Given the description of an element on the screen output the (x, y) to click on. 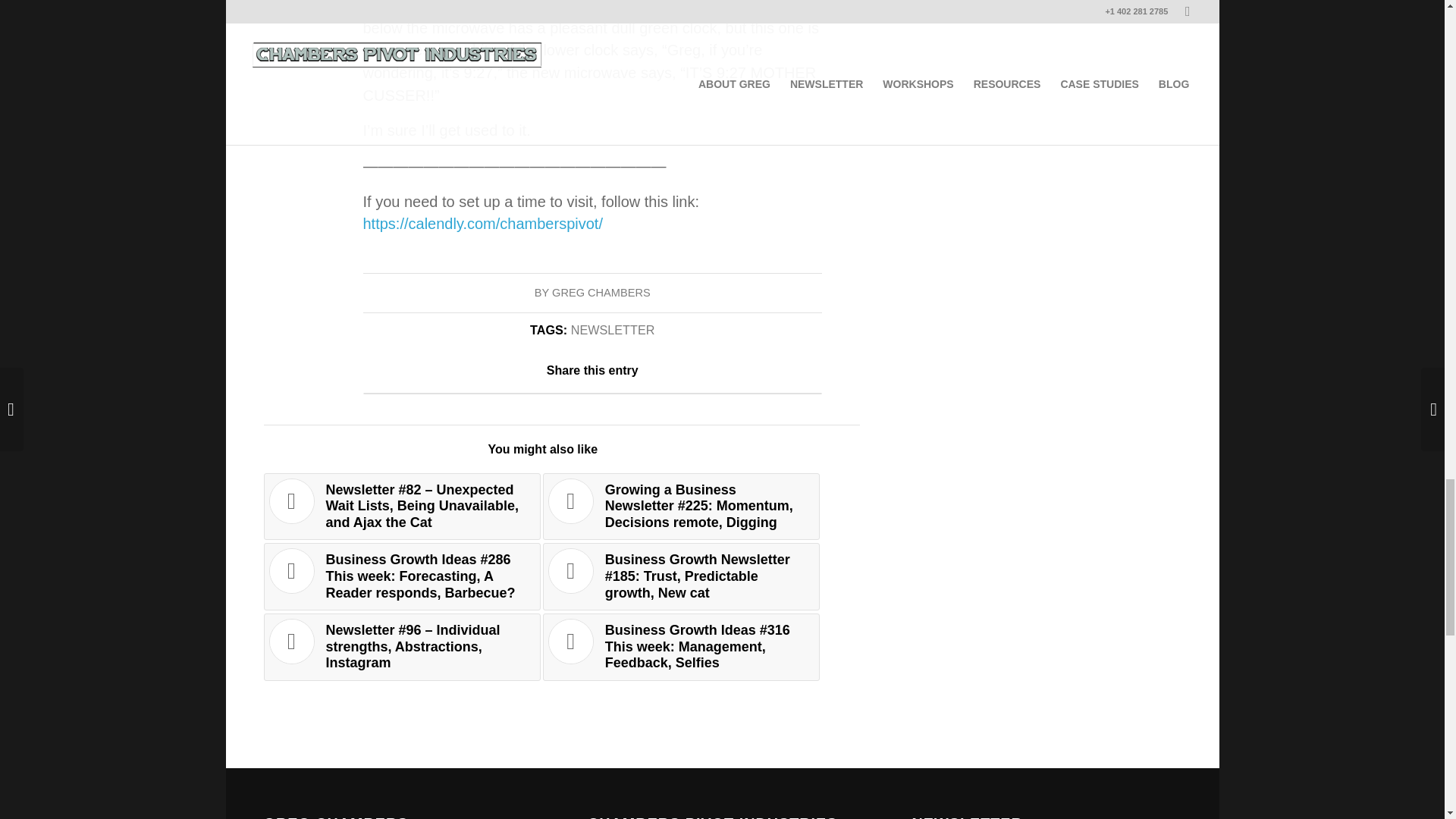
Posts by Greg Chambers (600, 292)
NEWSLETTER (612, 329)
GREG CHAMBERS (600, 292)
